Given the description of an element on the screen output the (x, y) to click on. 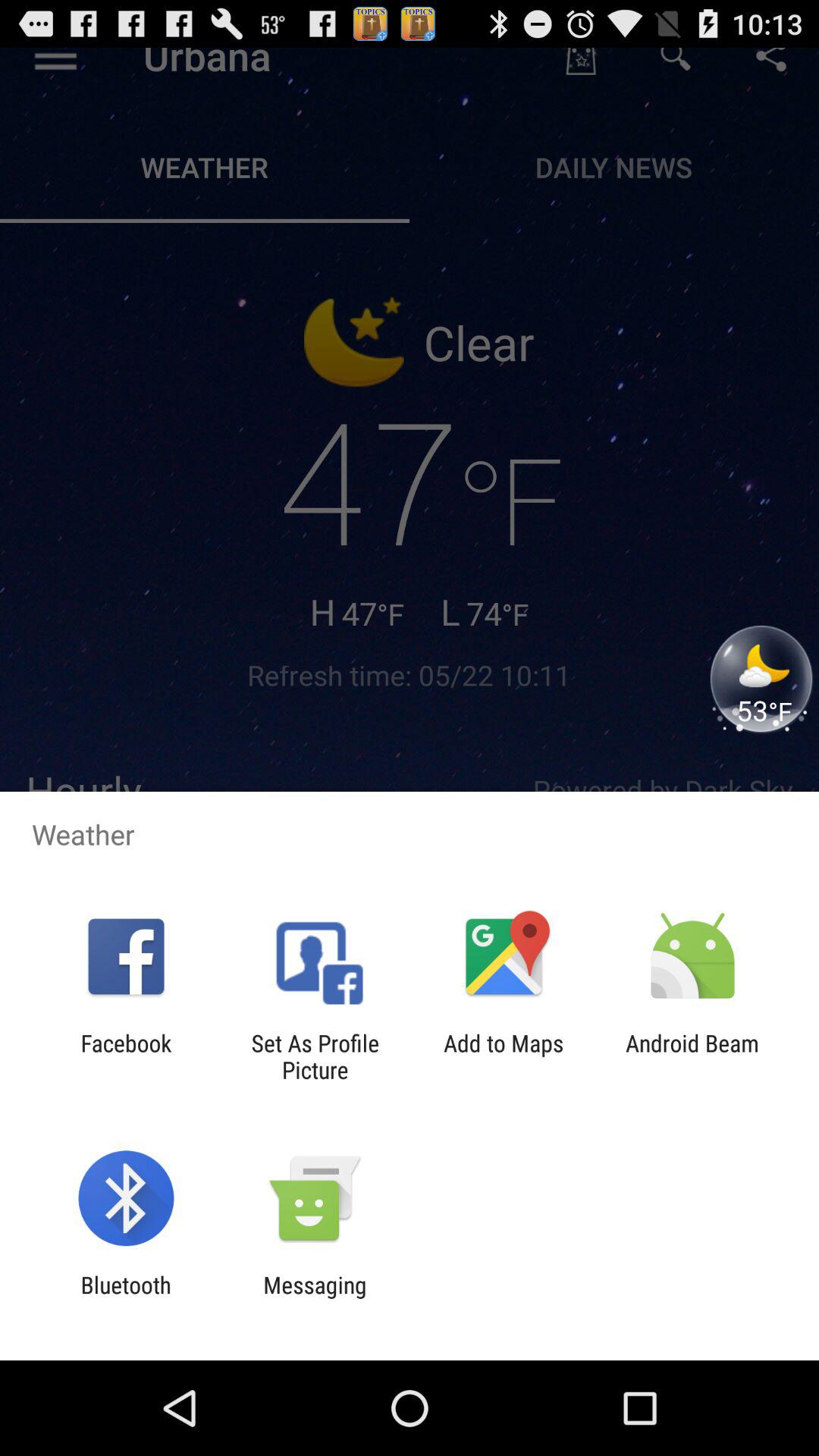
press the app to the left of set as profile (125, 1056)
